Given the description of an element on the screen output the (x, y) to click on. 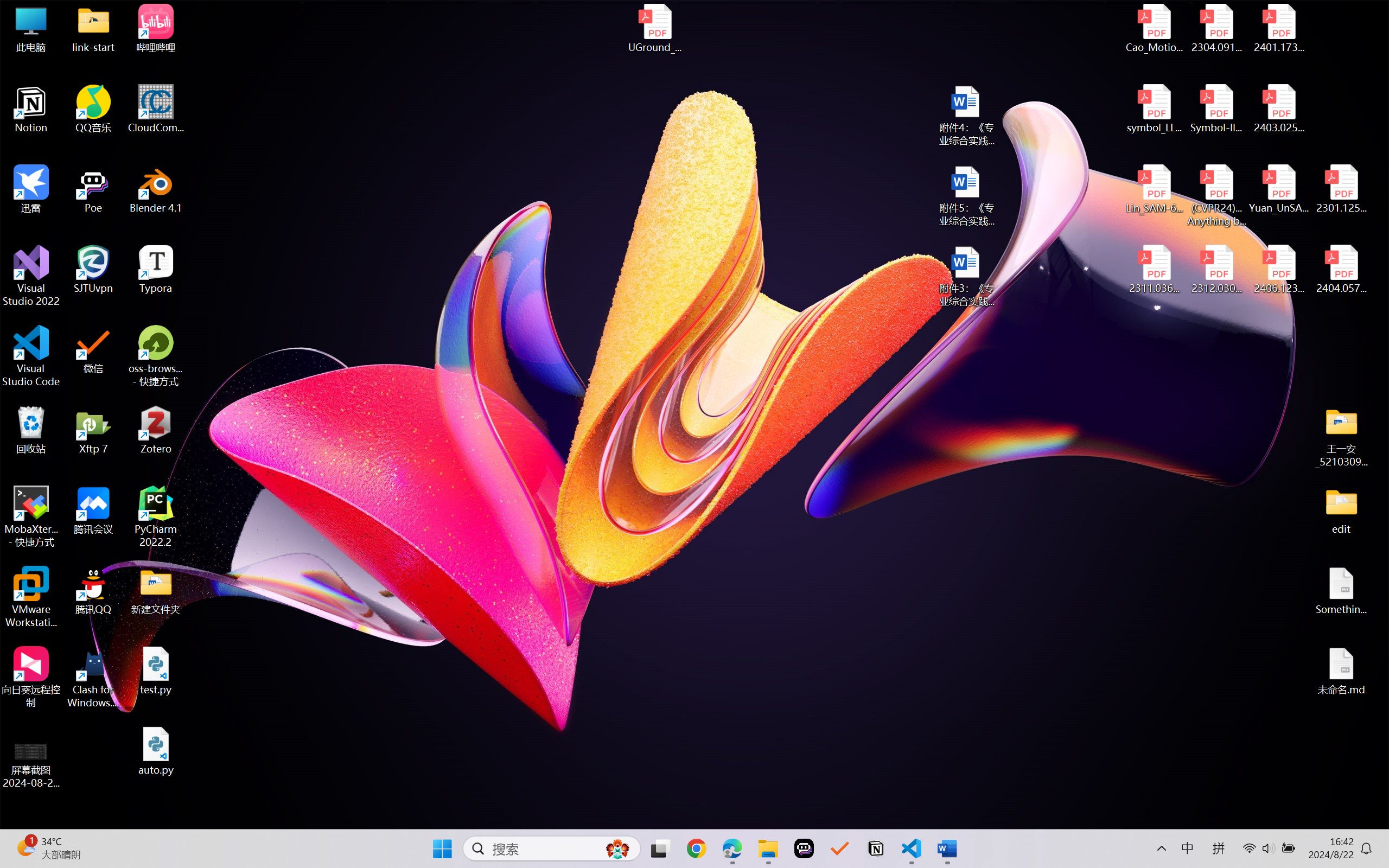
Something.md (1340, 591)
2304.09121v3.pdf (1216, 28)
UGround_paper.pdf (654, 28)
2301.12597v3.pdf (1340, 189)
